Given the description of an element on the screen output the (x, y) to click on. 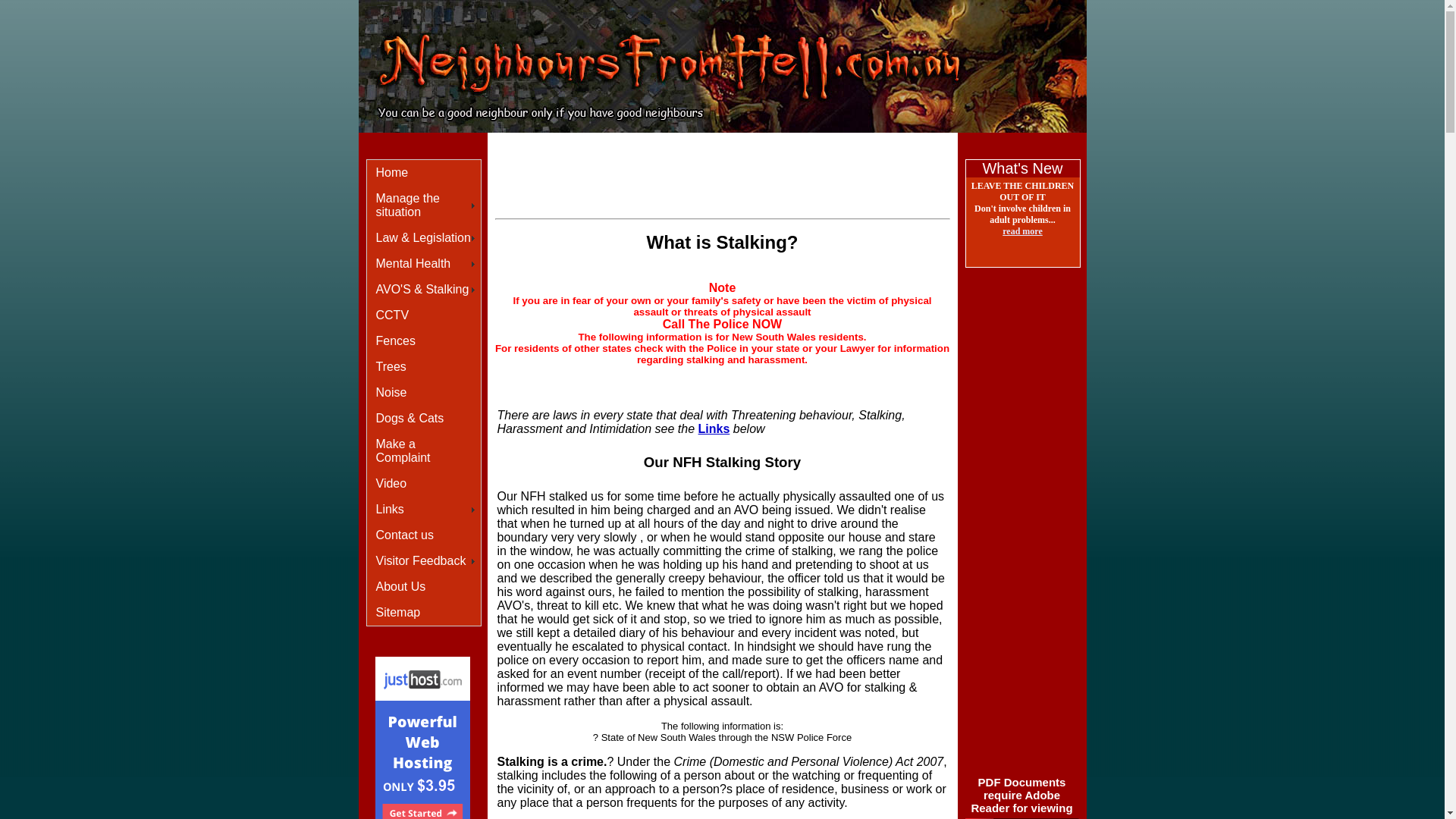
Manage the situation Element type: text (423, 205)
Noise Element type: text (423, 392)
Dogs & Cats Element type: text (423, 418)
Sitemap Element type: text (423, 612)
Fences Element type: text (423, 341)
About Us Element type: text (423, 586)
Make a Complaint Element type: text (423, 450)
Trees Element type: text (423, 366)
Visitor Feedback Element type: text (423, 561)
Home Element type: text (423, 172)
Contact us Element type: text (423, 535)
Links Element type: text (423, 509)
CCTV Element type: text (423, 315)
AVO'S & Stalking Element type: text (423, 289)
Links Element type: text (714, 428)
Advertisement Element type: hover (709, 145)
Law & Legislation Element type: text (423, 238)
What is Stalking? Element type: text (721, 242)
Video Element type: text (423, 483)
Mental Health Element type: text (423, 263)
